Given the description of an element on the screen output the (x, y) to click on. 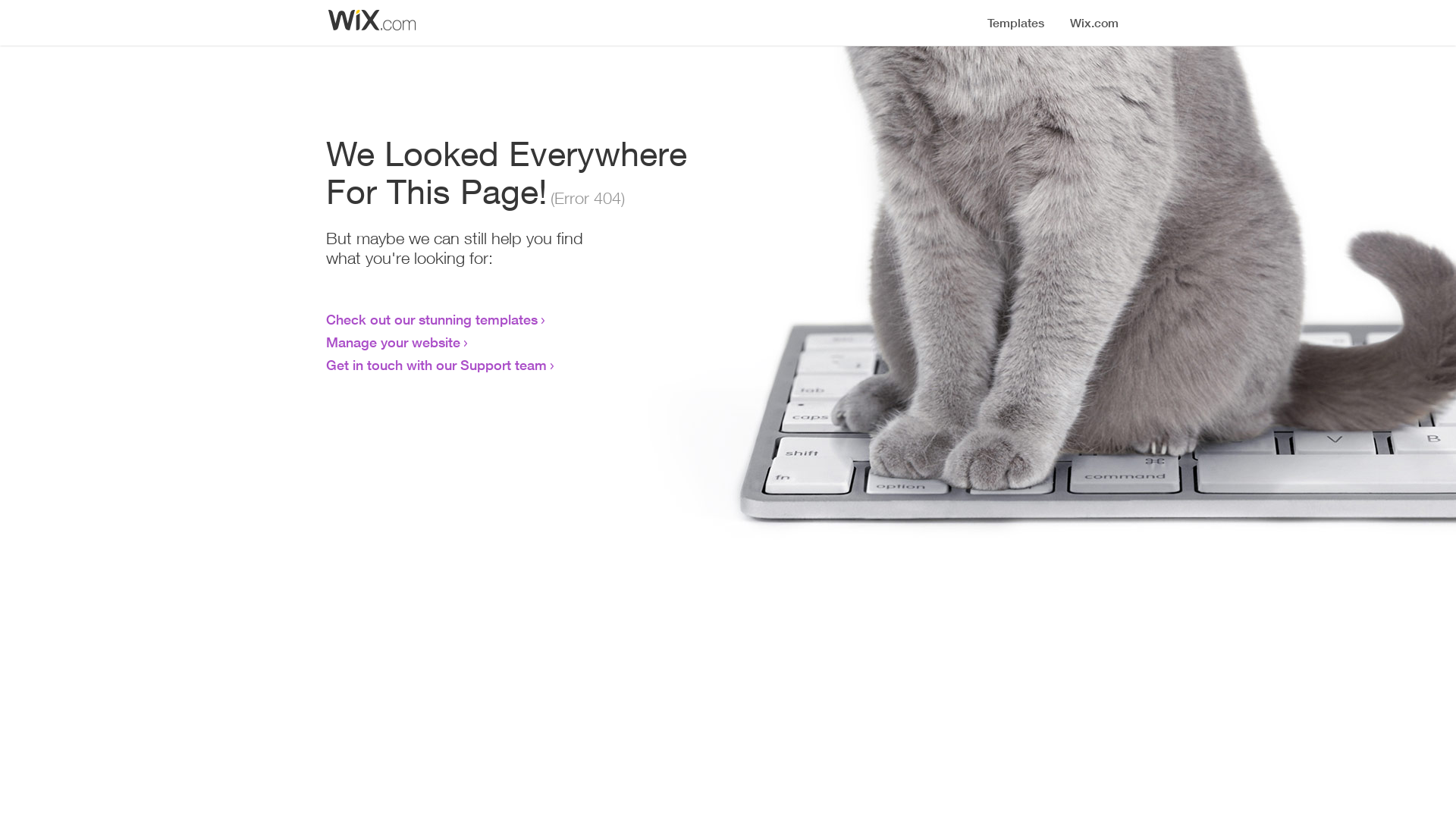
Get in touch with our Support team Element type: text (436, 364)
Manage your website Element type: text (393, 341)
Check out our stunning templates Element type: text (431, 318)
